Given the description of an element on the screen output the (x, y) to click on. 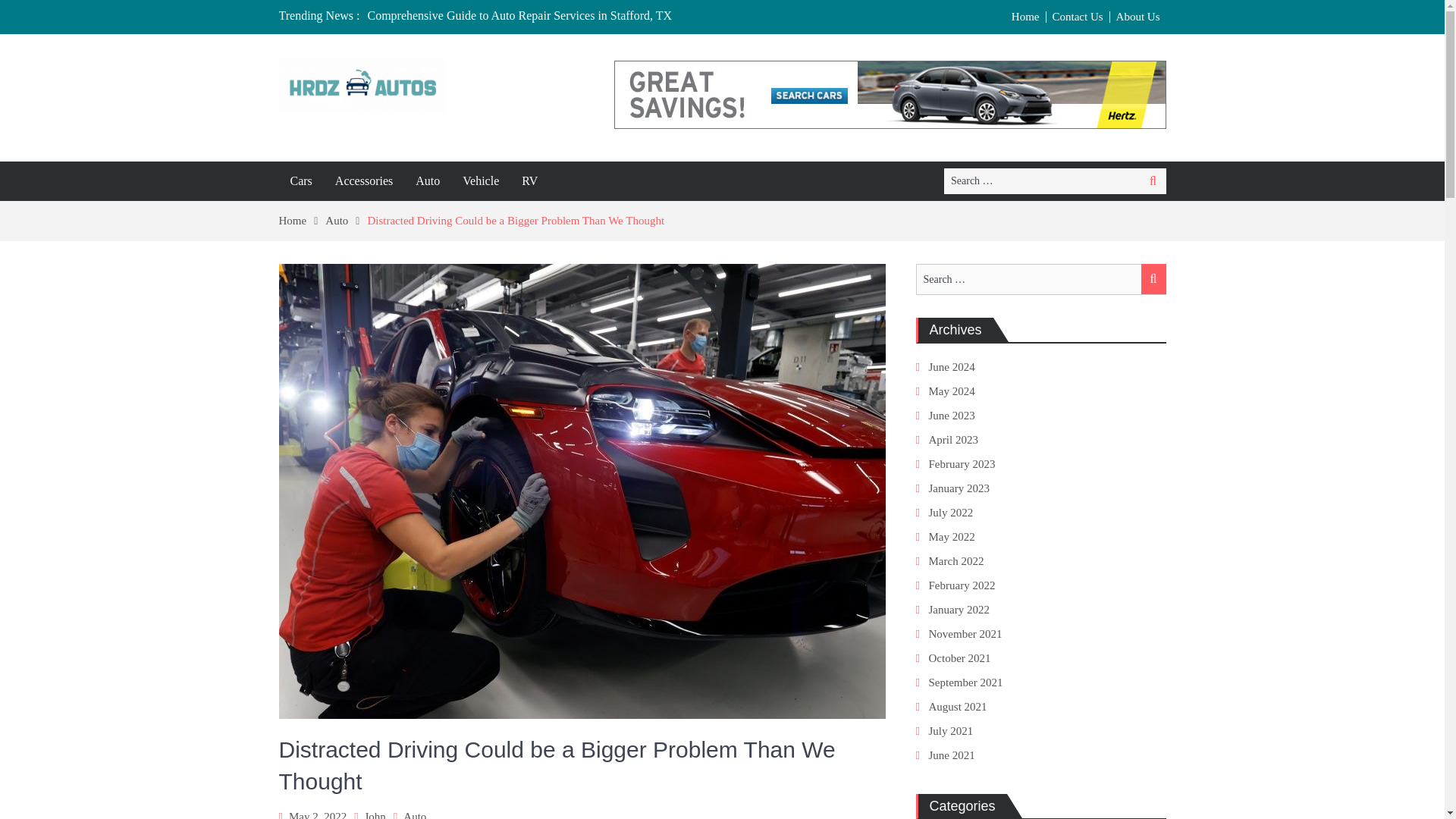
Search (1153, 181)
Auto (427, 179)
Contact Us (1077, 16)
RV (529, 179)
Auto (414, 814)
About Us (1137, 16)
Accessories (363, 179)
Cars (301, 179)
Home (302, 219)
Vehicle (481, 179)
John (374, 814)
May 2, 2022 (317, 814)
Auto (345, 219)
Home (1026, 16)
Comprehensive Guide to Auto Repair Services in Stafford, TX (518, 15)
